Given the description of an element on the screen output the (x, y) to click on. 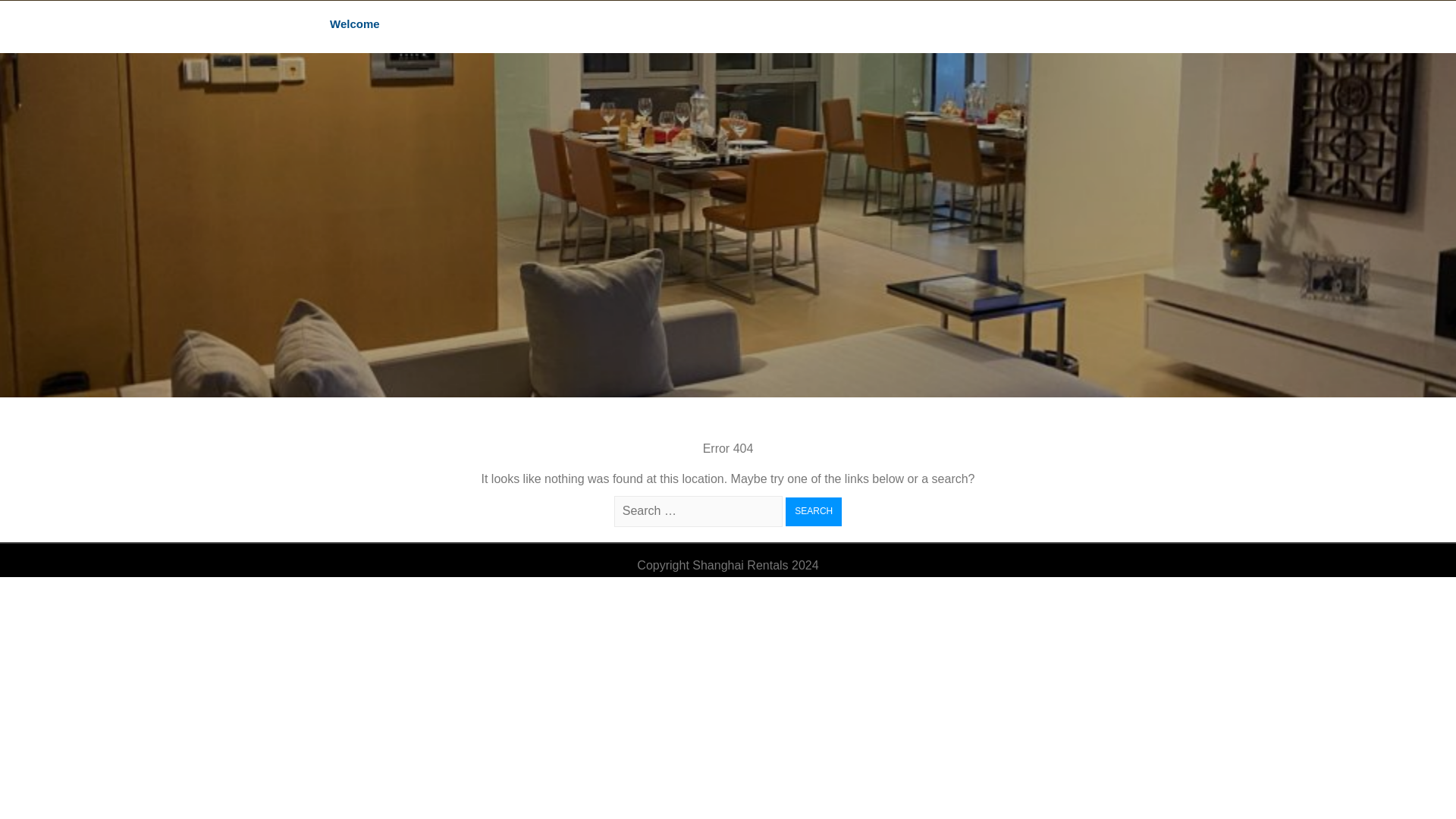
Welcome (354, 24)
Search (813, 511)
Search (813, 511)
Search (813, 511)
